Given the description of an element on the screen output the (x, y) to click on. 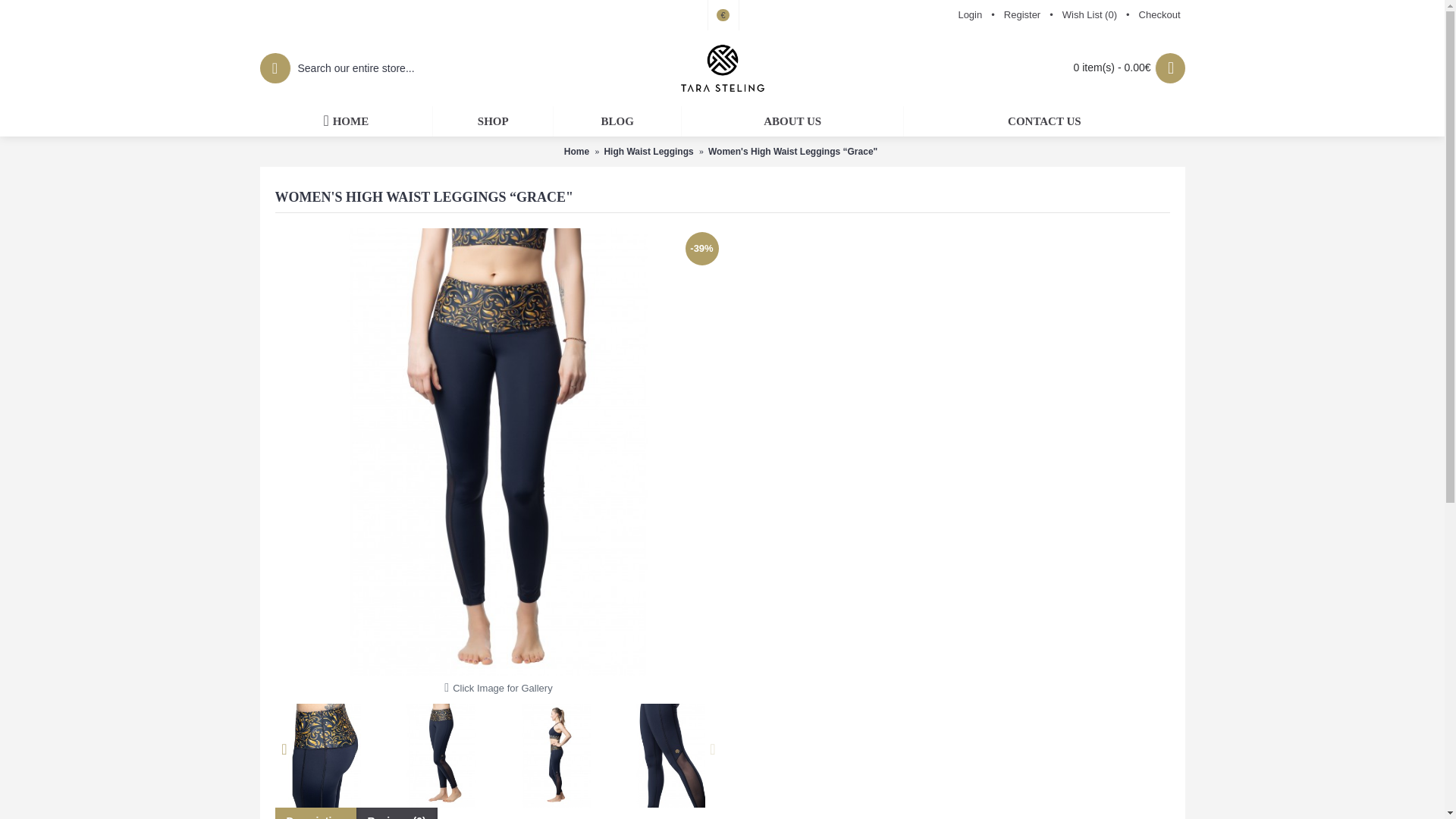
ABOUT US (791, 121)
SHOP (492, 121)
CONTACT US (1044, 121)
Register (1021, 15)
Description (315, 813)
HOME (345, 121)
Login (970, 15)
BLOG (617, 121)
High Waist Leggings (648, 151)
Checkout (1159, 15)
